Given the description of an element on the screen output the (x, y) to click on. 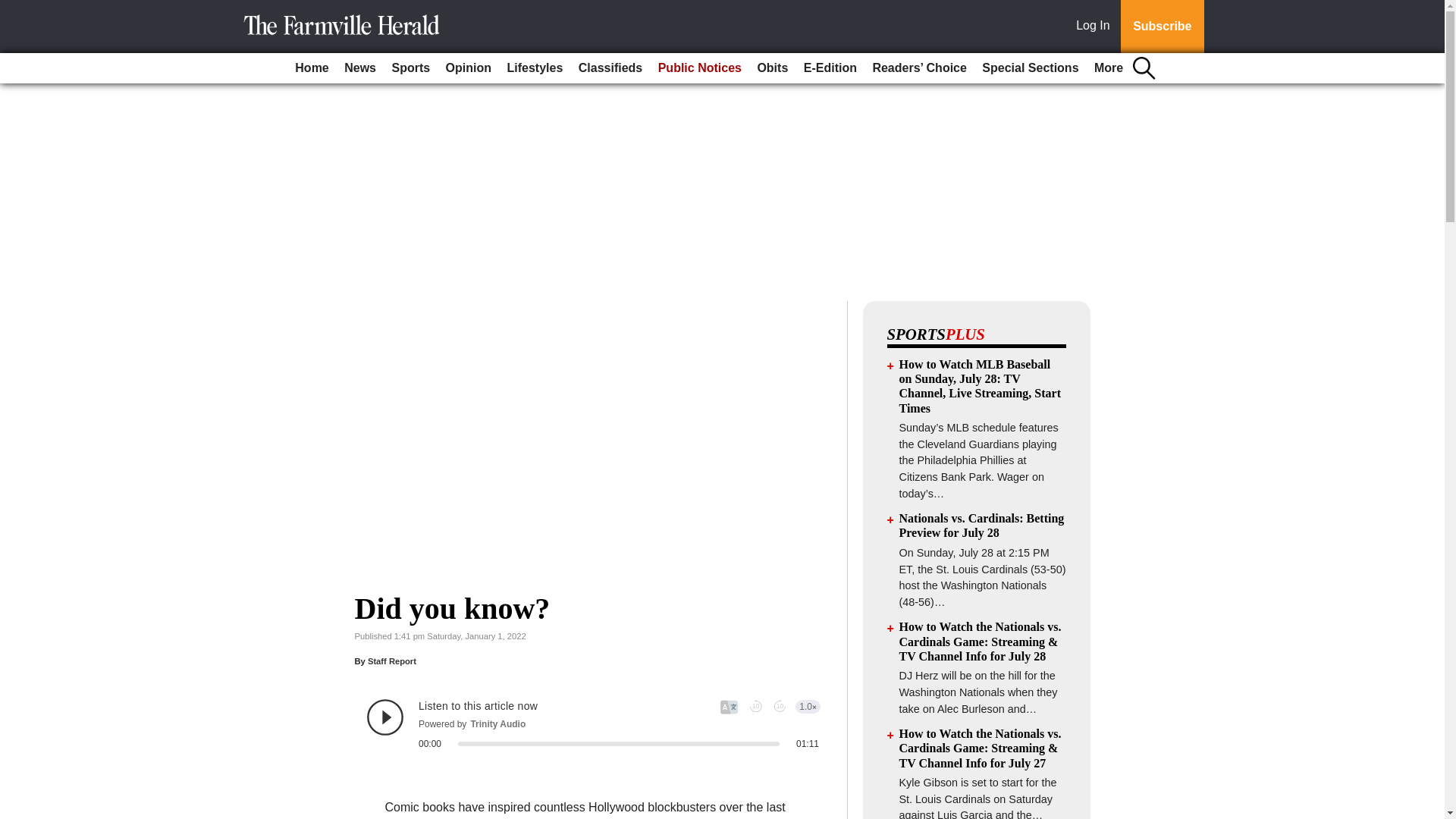
Trinity Audio Player (592, 723)
E-Edition (830, 68)
Obits (772, 68)
Sports (410, 68)
Staff Report (392, 660)
Public Notices (700, 68)
Nationals vs. Cardinals: Betting Preview for July 28 (981, 524)
Special Sections (1029, 68)
More (1108, 68)
Lifestyles (534, 68)
News (359, 68)
Go (13, 9)
Classifieds (609, 68)
Log In (1095, 26)
